Given the description of an element on the screen output the (x, y) to click on. 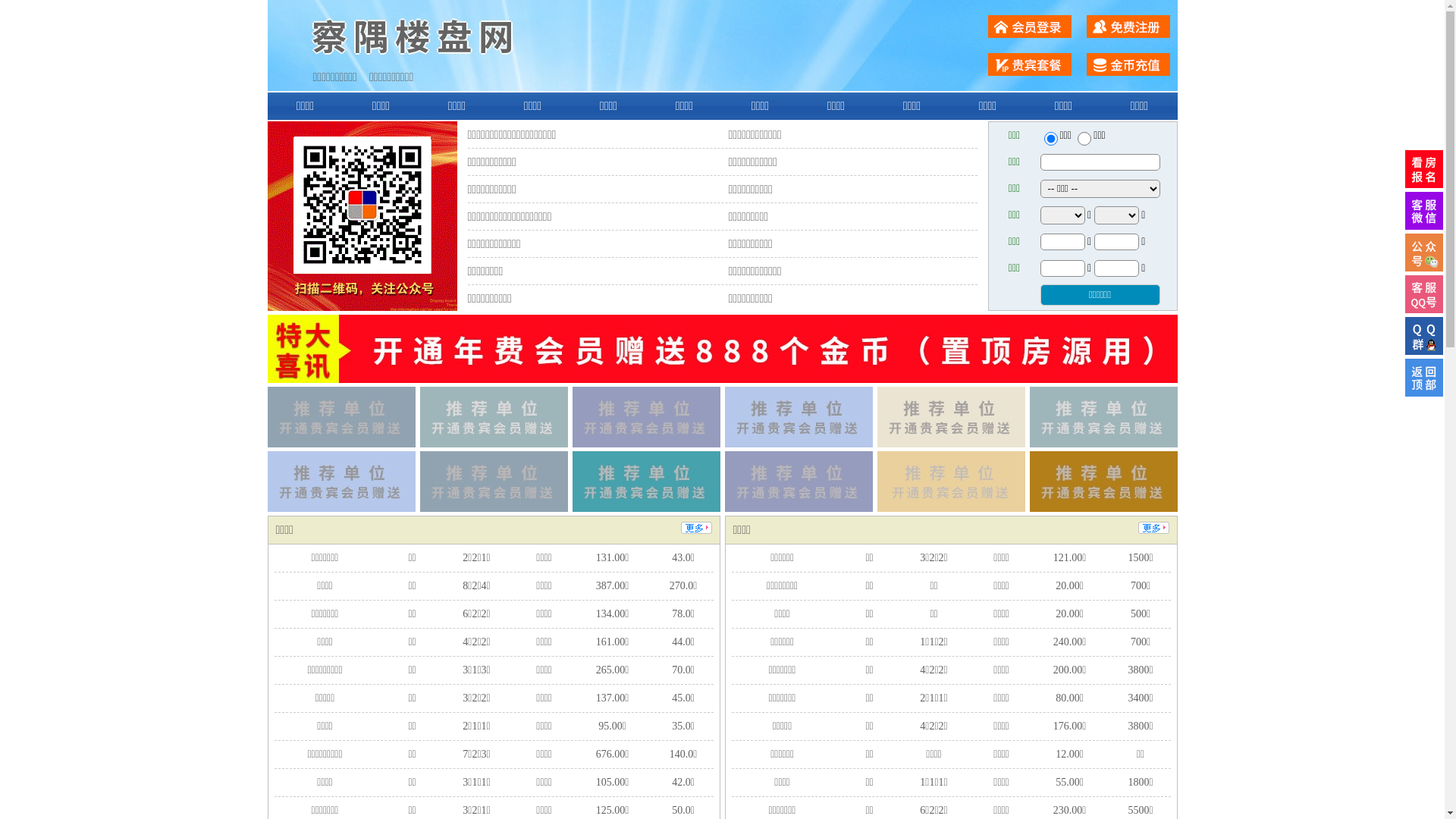
ershou Element type: text (1050, 138)
chuzu Element type: text (1084, 138)
